Given the description of an element on the screen output the (x, y) to click on. 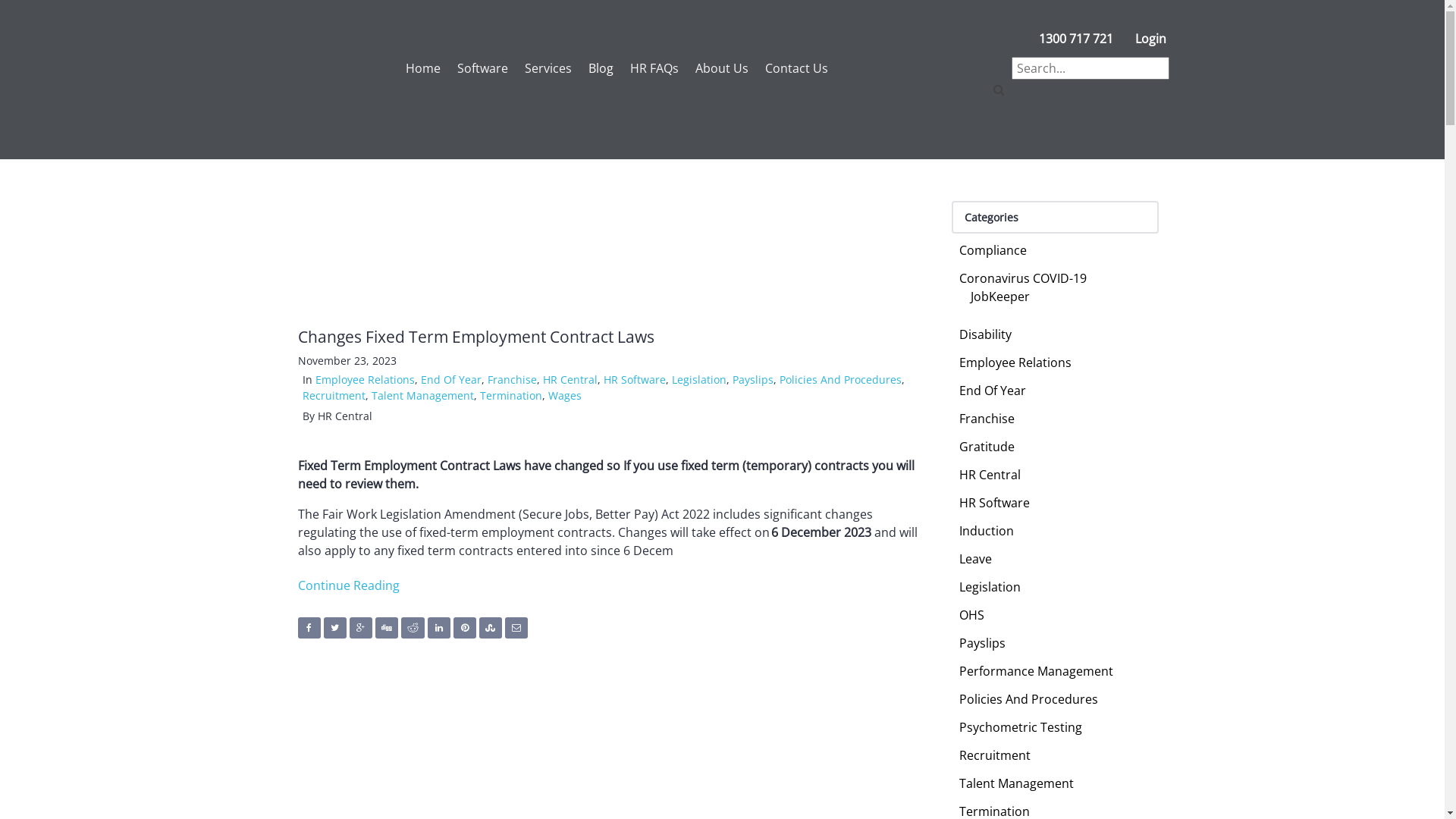
End Of Year Element type: text (450, 379)
Recruitment Element type: text (332, 395)
Franchise Element type: text (511, 379)
Gratitude Element type: text (986, 446)
Policies And Procedures Element type: text (1028, 698)
Talent Management Element type: text (1016, 783)
Services Element type: text (542, 68)
Blog Element type: text (595, 68)
Performance Management Element type: text (1036, 670)
Home Element type: text (418, 68)
Login Element type: text (1144, 38)
Psychometric Testing Element type: text (1020, 726)
Employee Relations Element type: text (1015, 362)
About Us Element type: text (717, 68)
Recruitment Element type: text (994, 754)
Induction Element type: text (986, 530)
Coronavirus COVID-19 Element type: text (1022, 277)
HR Central Element type: text (569, 379)
Legislation Element type: text (989, 586)
Franchise Element type: text (986, 418)
Wages Element type: text (563, 395)
End Of Year Element type: text (992, 390)
Talent Management Element type: text (422, 395)
Payslips Element type: text (752, 379)
Continue Reading Element type: text (347, 585)
OHS Element type: text (971, 614)
HR Software Element type: text (634, 379)
Leave Element type: text (975, 558)
HR Central Element type: text (989, 474)
Termination Element type: text (510, 395)
1300 717 721 Element type: text (1069, 38)
Software Element type: text (477, 68)
HR Software Element type: text (994, 502)
Employee Relations Element type: text (364, 379)
Payslips Element type: text (982, 642)
Contact Us Element type: text (791, 68)
Changes Fixed Term Employment Contract Laws Element type: text (475, 336)
HR FAQs Element type: text (649, 68)
Compliance Element type: text (992, 249)
JobKeeper Element type: text (999, 296)
Legislation Element type: text (698, 379)
Disability Element type: text (985, 334)
Policies And Procedures Element type: text (840, 379)
